Given the description of an element on the screen output the (x, y) to click on. 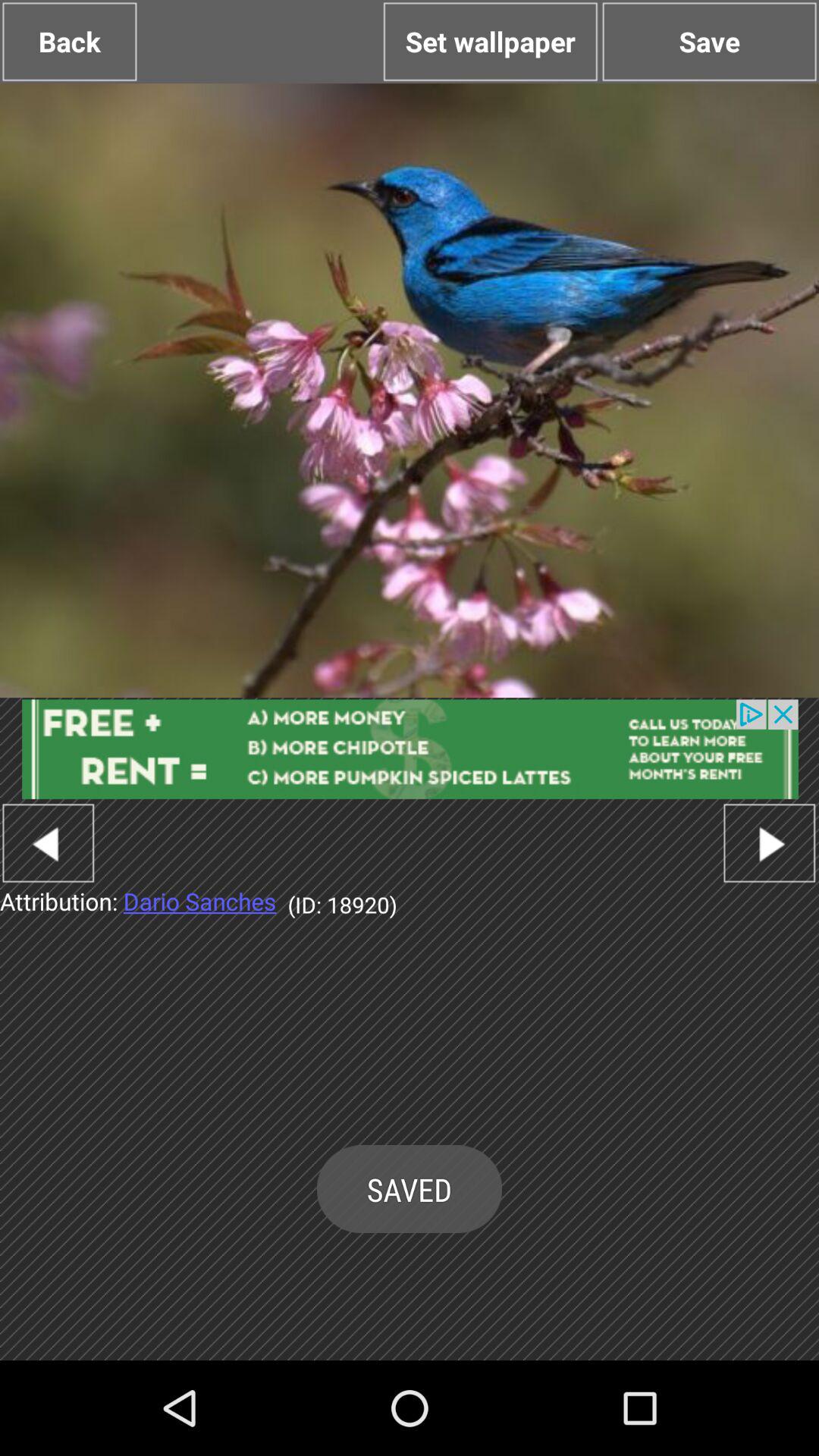
select the next option (769, 842)
